Given the description of an element on the screen output the (x, y) to click on. 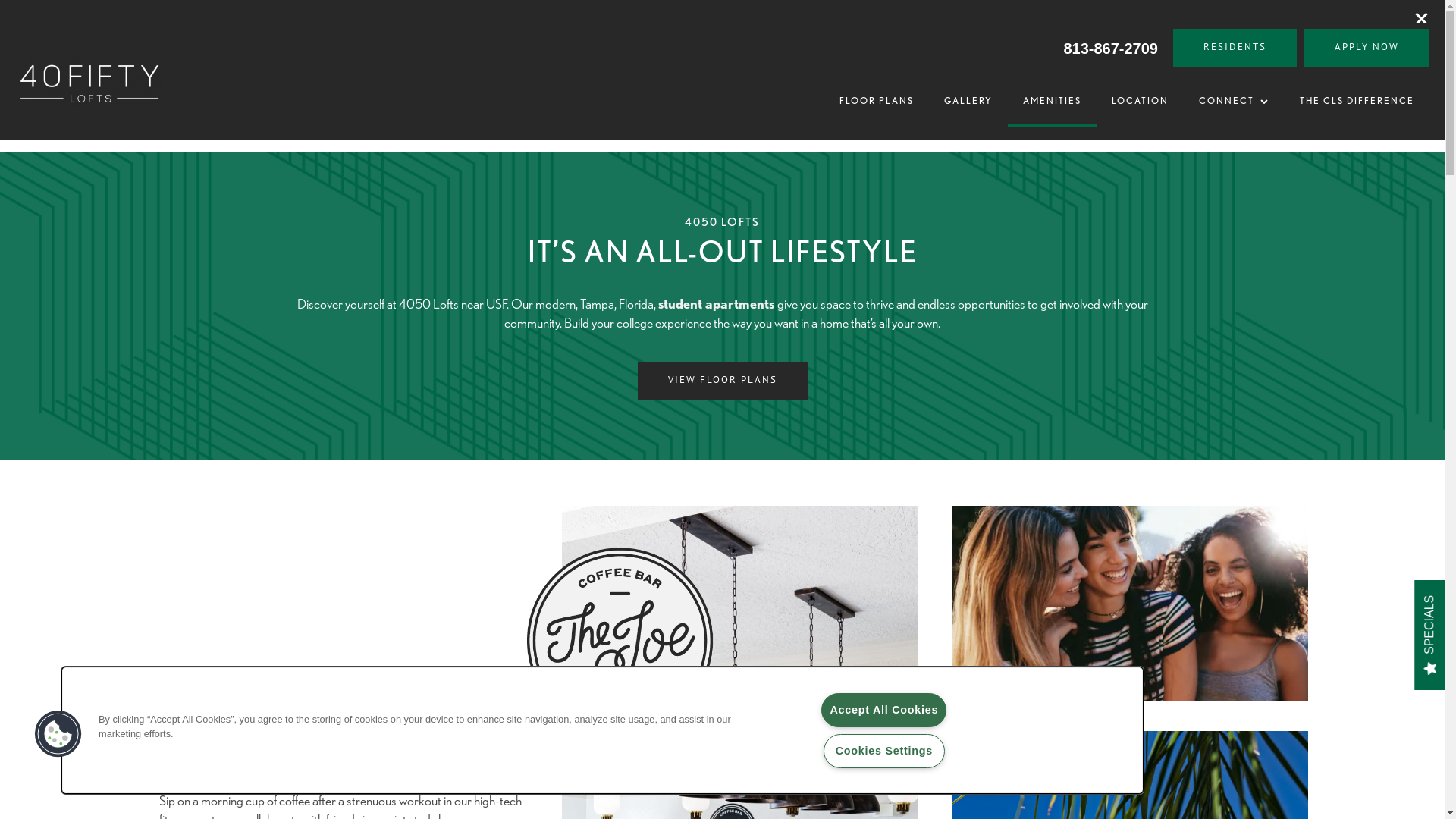
LOCATION Element type: text (1139, 100)
student apartments Element type: text (717, 303)
AMENITIES Element type: text (1051, 100)
GALLERY Element type: text (967, 100)
RESIDENTS Element type: text (1234, 47)
Accept All Cookies Element type: text (883, 710)
USF Element type: text (462, 767)
813-867-2709 Element type: text (1110, 47)
FLOOR PLANS Element type: text (876, 100)
APPLY NOW Element type: text (1366, 47)
THE CLS DIFFERENCE Element type: text (1356, 100)
CONNECT Element type: text (1233, 100)
Cookies Button Element type: text (58, 733)
Cookies Settings Element type: text (883, 751)
VIEW FLOOR PLANS Element type: text (721, 380)
FAQ Element type: text (1259, 105)
